Given the description of an element on the screen output the (x, y) to click on. 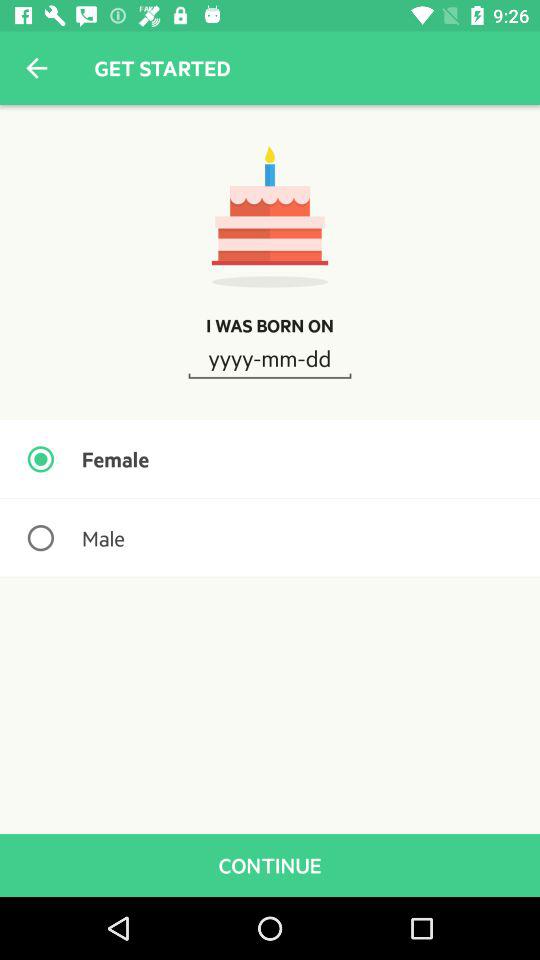
flip until the male icon (270, 537)
